Given the description of an element on the screen output the (x, y) to click on. 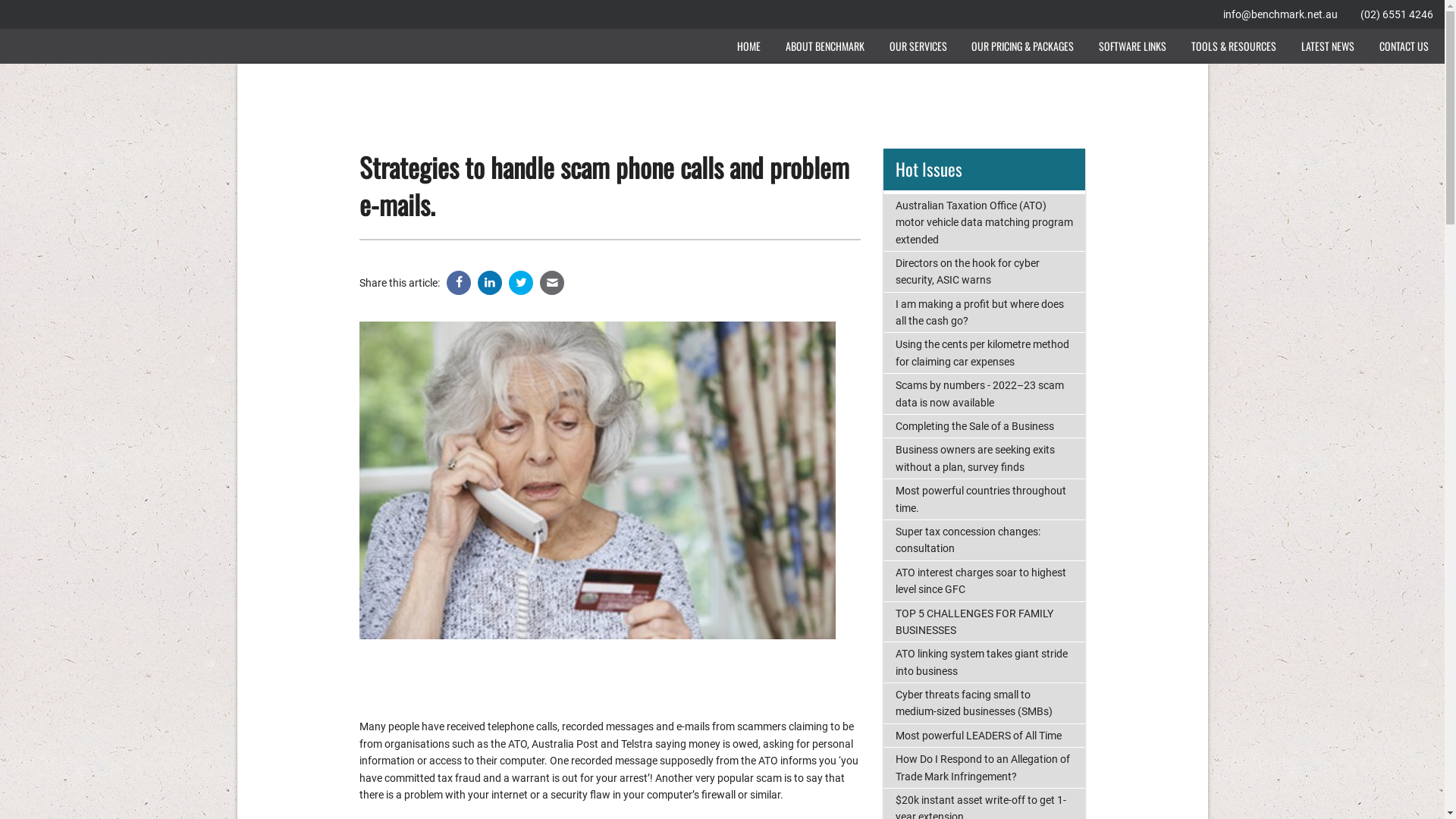
OUR SERVICES Element type: text (917, 45)
OUR PRICING & PACKAGES Element type: text (1022, 45)
SOFTWARE LINKS Element type: text (1132, 45)
Most powerful countries throughout time. Element type: text (984, 499)
info@benchmark.net.au Element type: text (1280, 14)
Super tax concession changes: consultation Element type: text (984, 540)
LATEST NEWS Element type: text (1326, 45)
Most powerful LEADERS of All Time Element type: text (984, 735)
CONTACT US Element type: text (1403, 45)
Cyber threats facing small to medium-sized businesses (SMBs) Element type: text (984, 703)
TOOLS & RESOURCES Element type: text (1233, 45)
ATO linking system takes giant stride into business Element type: text (984, 662)
HOME Element type: text (748, 45)
ATO interest charges soar to highest level since GFC Element type: text (984, 581)
(02) 6551 4246 Element type: text (1396, 14)
ABOUT BENCHMARK Element type: text (825, 45)
Completing the Sale of a Business Element type: text (984, 425)
I am making a profit but where does all the cash go? Element type: text (984, 312)
Directors on the hook for cyber security, ASIC warns Element type: text (984, 271)
TOP 5 CHALLENGES FOR FAMILY BUSINESSES Element type: text (984, 622)
